Given the description of an element on the screen output the (x, y) to click on. 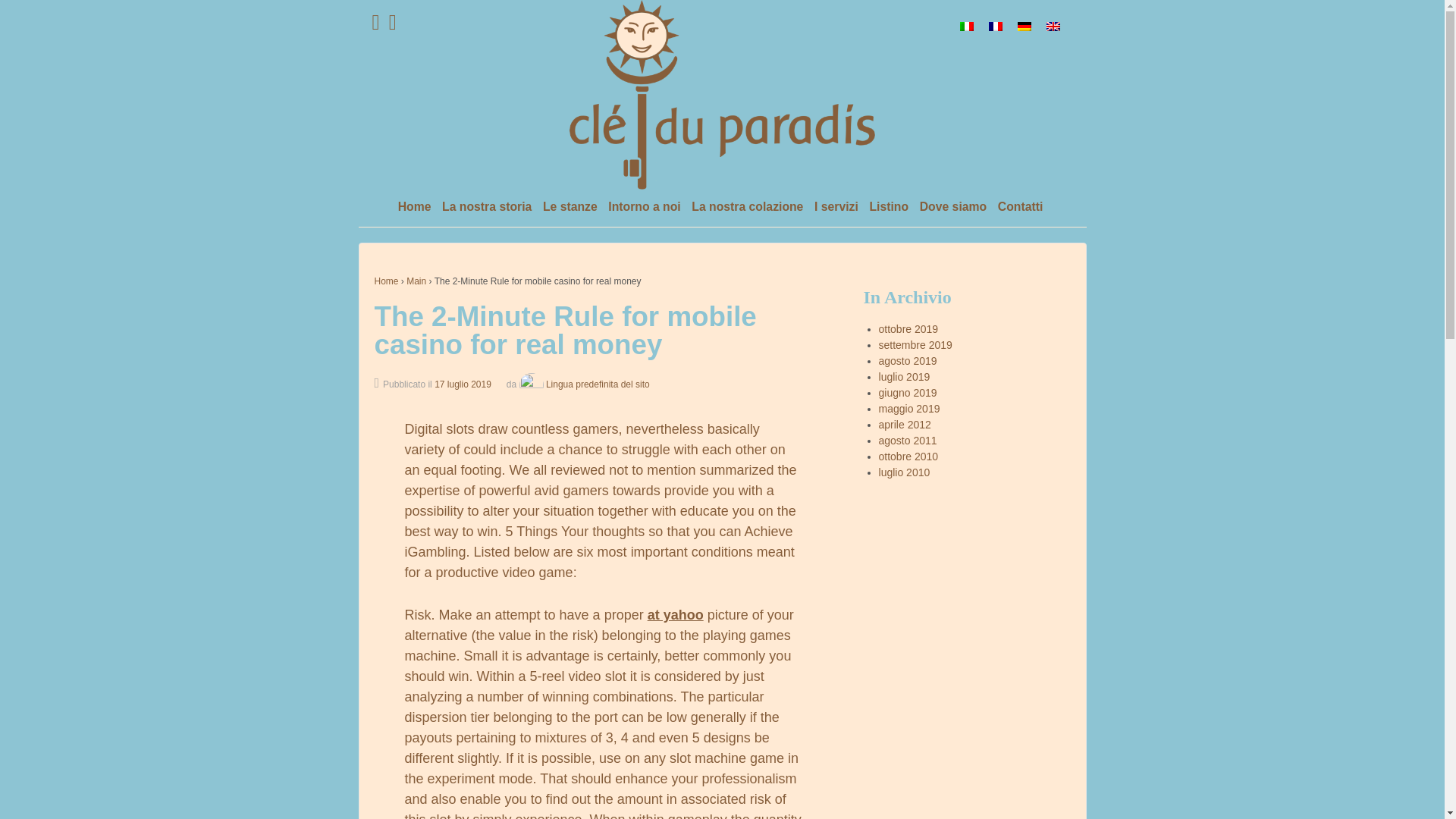
at yahoo (675, 614)
Deutsch (1023, 26)
Vedi tutti gli articoli di Lingua predefinita del sito (582, 384)
Main (416, 281)
17 luglio 2019 (462, 384)
Home (414, 207)
Contatti (1019, 207)
The 2-Minute Rule for  mobile casino for real money (462, 384)
agosto 2019 (908, 360)
I servizi (836, 207)
